Given the description of an element on the screen output the (x, y) to click on. 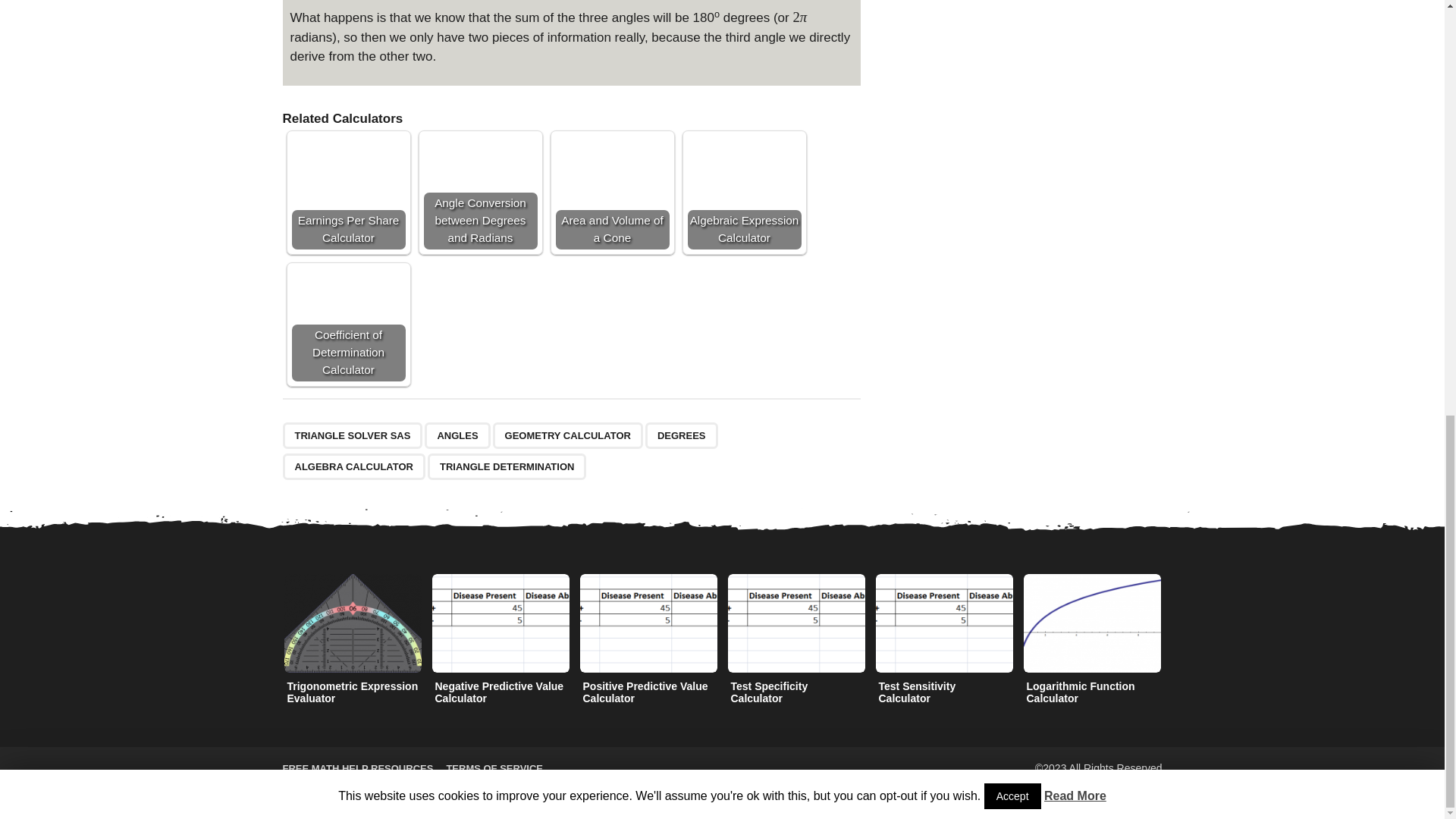
Area and Volume of a Cone (611, 192)
Coefficient of Determination Calculator (347, 324)
Algebraic Expression Calculator (743, 192)
Angle Conversion between Degrees and Radians (480, 192)
Earnings Per Share Calculator (347, 192)
